Given the description of an element on the screen output the (x, y) to click on. 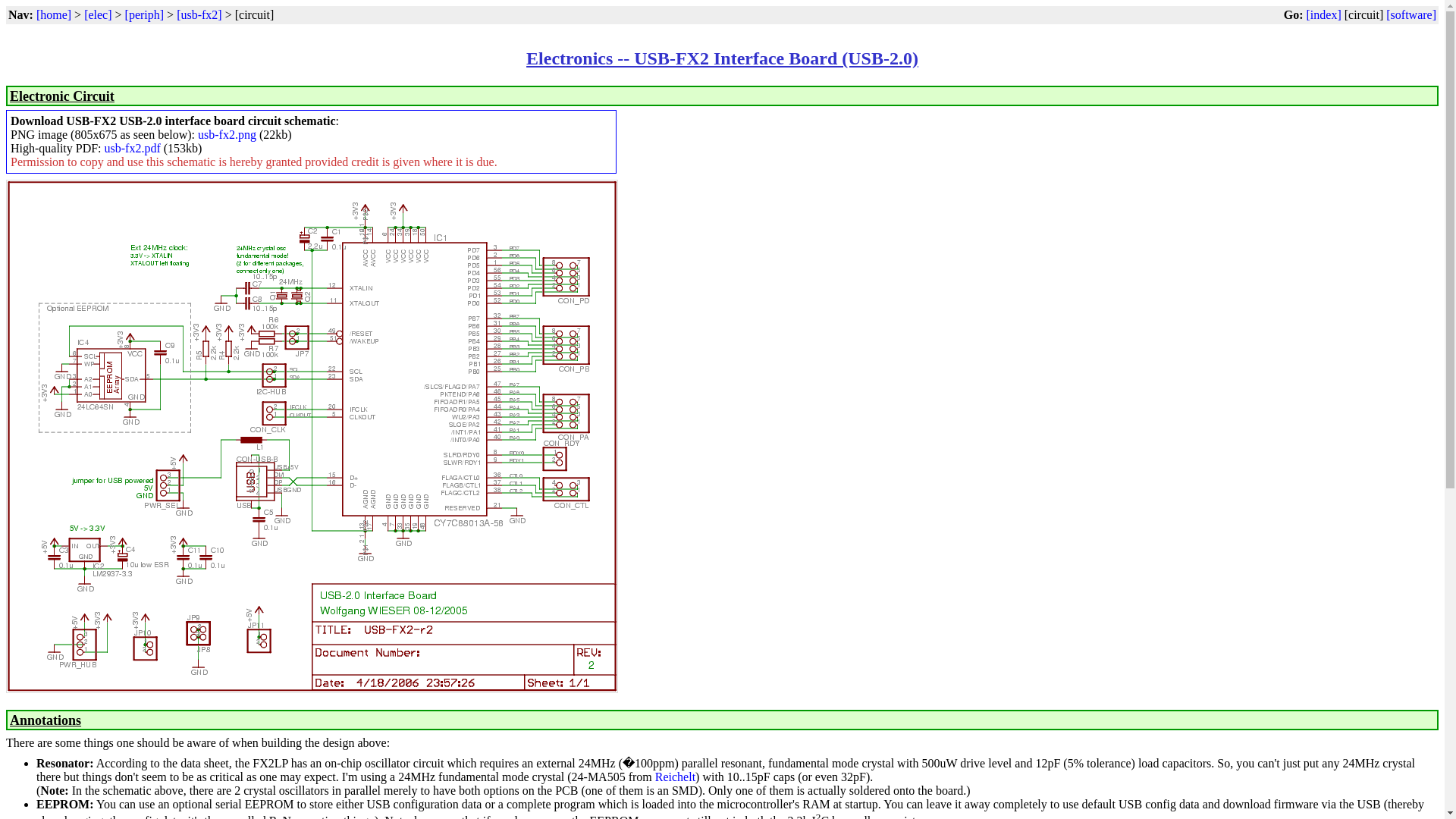
usb-fx2.png (227, 133)
usb-fx2.pdf (132, 147)
Reichelt (675, 776)
